Given the description of an element on the screen output the (x, y) to click on. 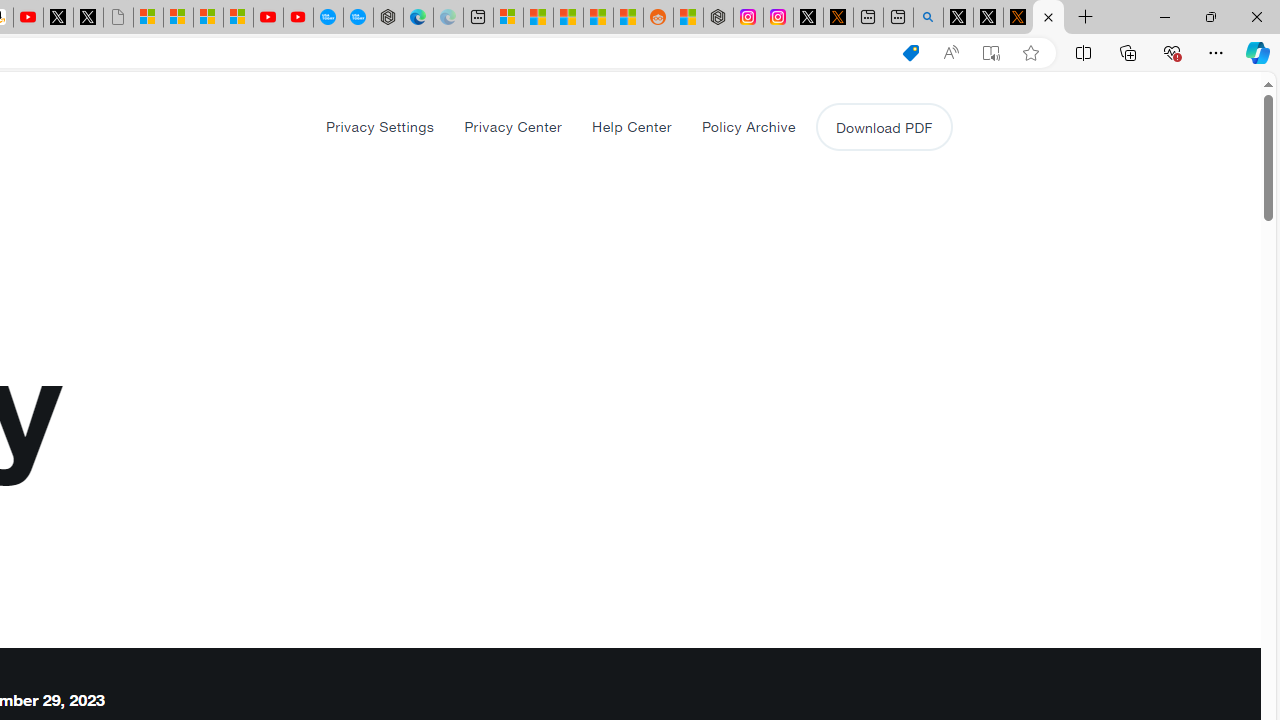
Day 1: Arriving in Yemen (surreal to be here) - YouTube (28, 17)
Download PDF (884, 126)
Gloom - YouTube (267, 17)
Privacy Settings (380, 126)
Untitled (118, 17)
Copilot (Ctrl+Shift+.) (1258, 52)
Privacy Settings (379, 126)
X Privacy Policy (1048, 17)
New tab (898, 17)
Nordace - Summer Adventures 2024 (718, 17)
Policy Archive (747, 126)
Shanghai, China hourly forecast | Microsoft Weather (568, 17)
